Given the description of an element on the screen output the (x, y) to click on. 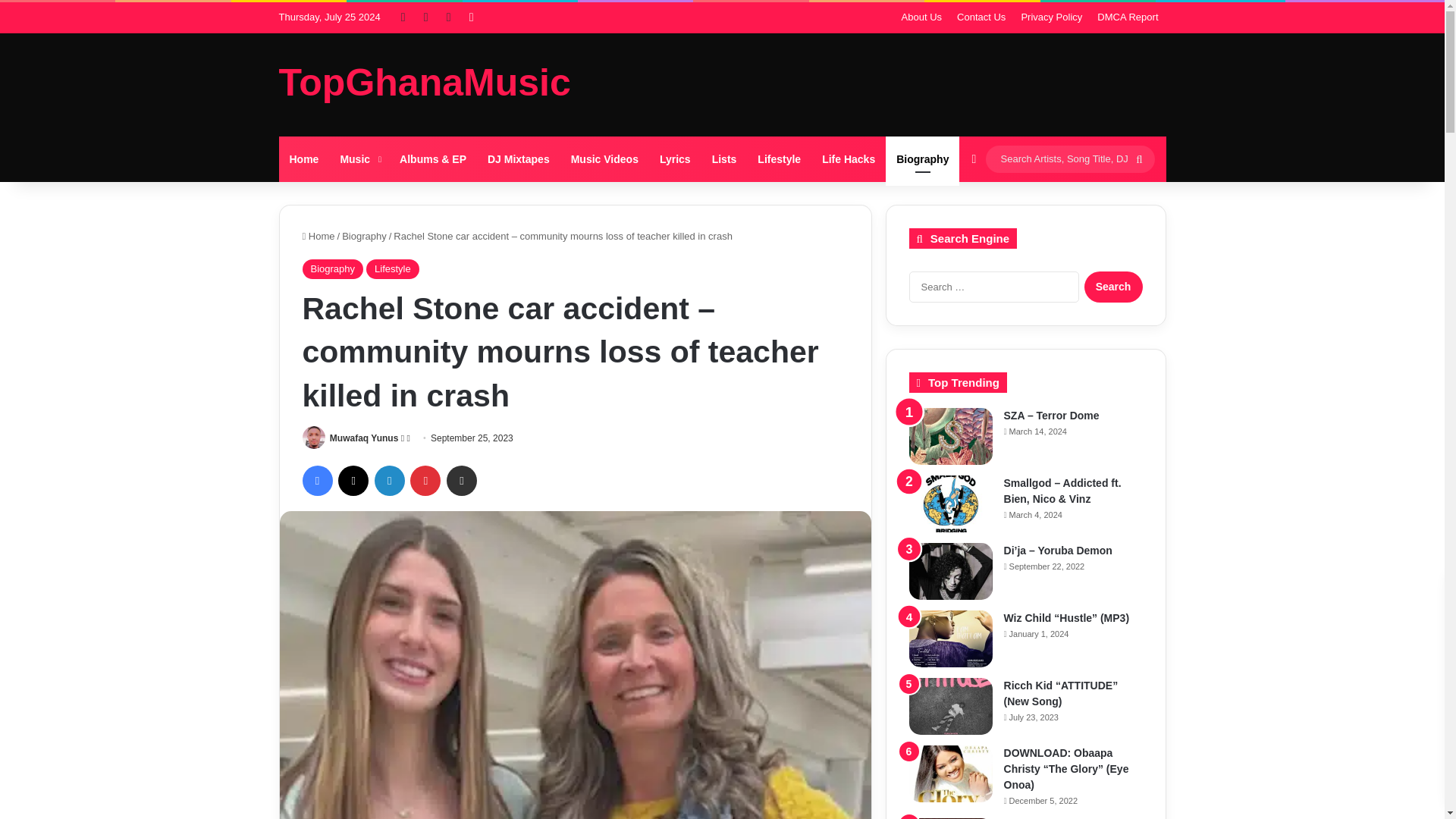
Advertisement (873, 82)
Pinterest (425, 481)
Muwafaq Yunus (363, 438)
Search (1113, 286)
Lifestyle (778, 158)
Home (304, 158)
Life Hacks (847, 158)
Muwafaq Yunus (363, 438)
Music (358, 158)
TopGhanaMusic (424, 82)
Biography (331, 269)
Share via Email (461, 481)
About Us (921, 17)
Privacy Policy (1051, 17)
Biography (364, 235)
